Given the description of an element on the screen output the (x, y) to click on. 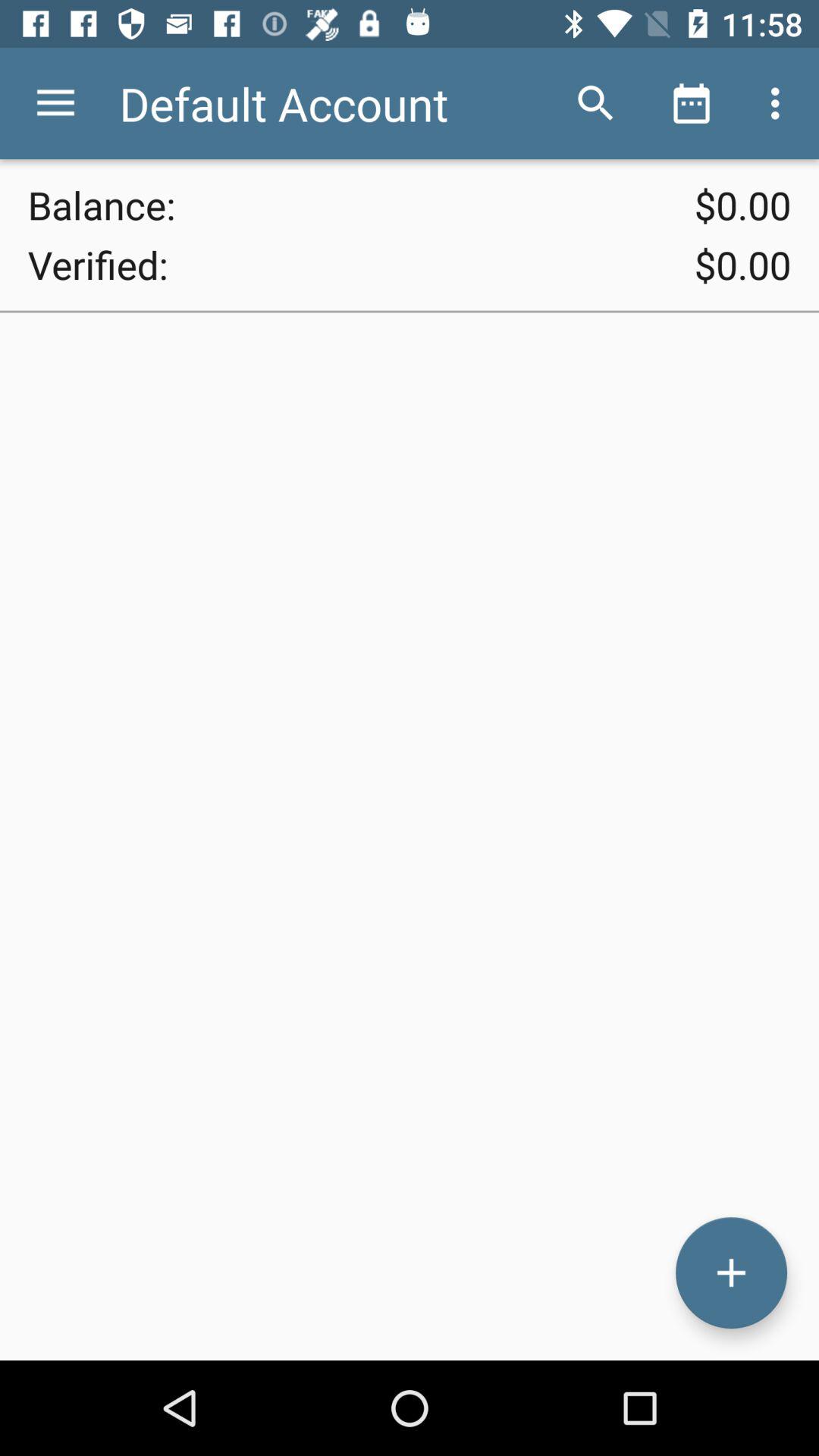
add button (731, 1272)
